Given the description of an element on the screen output the (x, y) to click on. 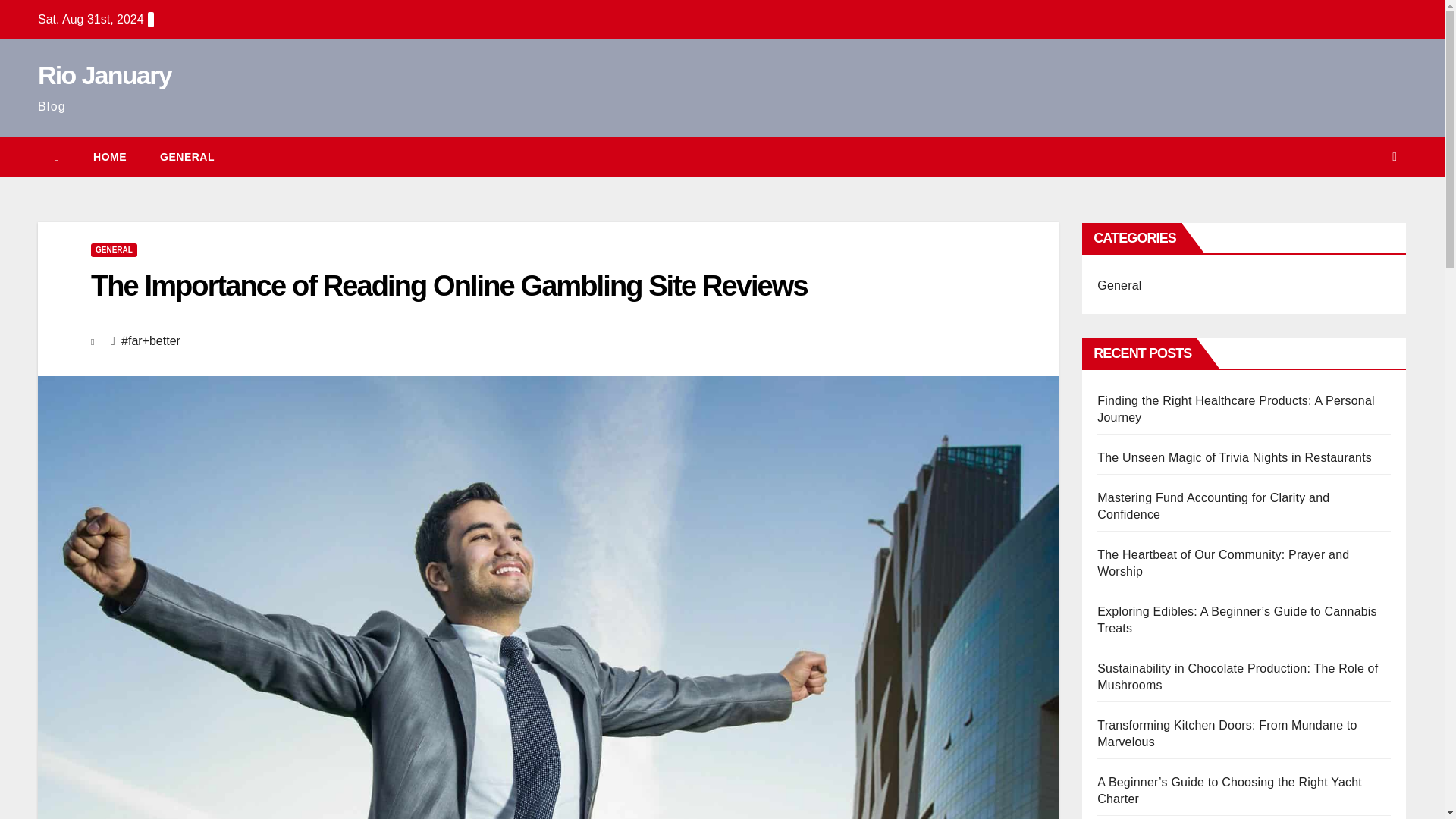
Mastering Fund Accounting for Clarity and Confidence (1213, 505)
Transforming Kitchen Doors: From Mundane to Marvelous (1226, 733)
GENERAL (113, 250)
Home (109, 156)
HOME (109, 156)
The Heartbeat of Our Community: Prayer and Worship (1223, 562)
The Unseen Magic of Trivia Nights in Restaurants (1234, 457)
The Importance of Reading Online Gambling Site Reviews (449, 286)
